Given the description of an element on the screen output the (x, y) to click on. 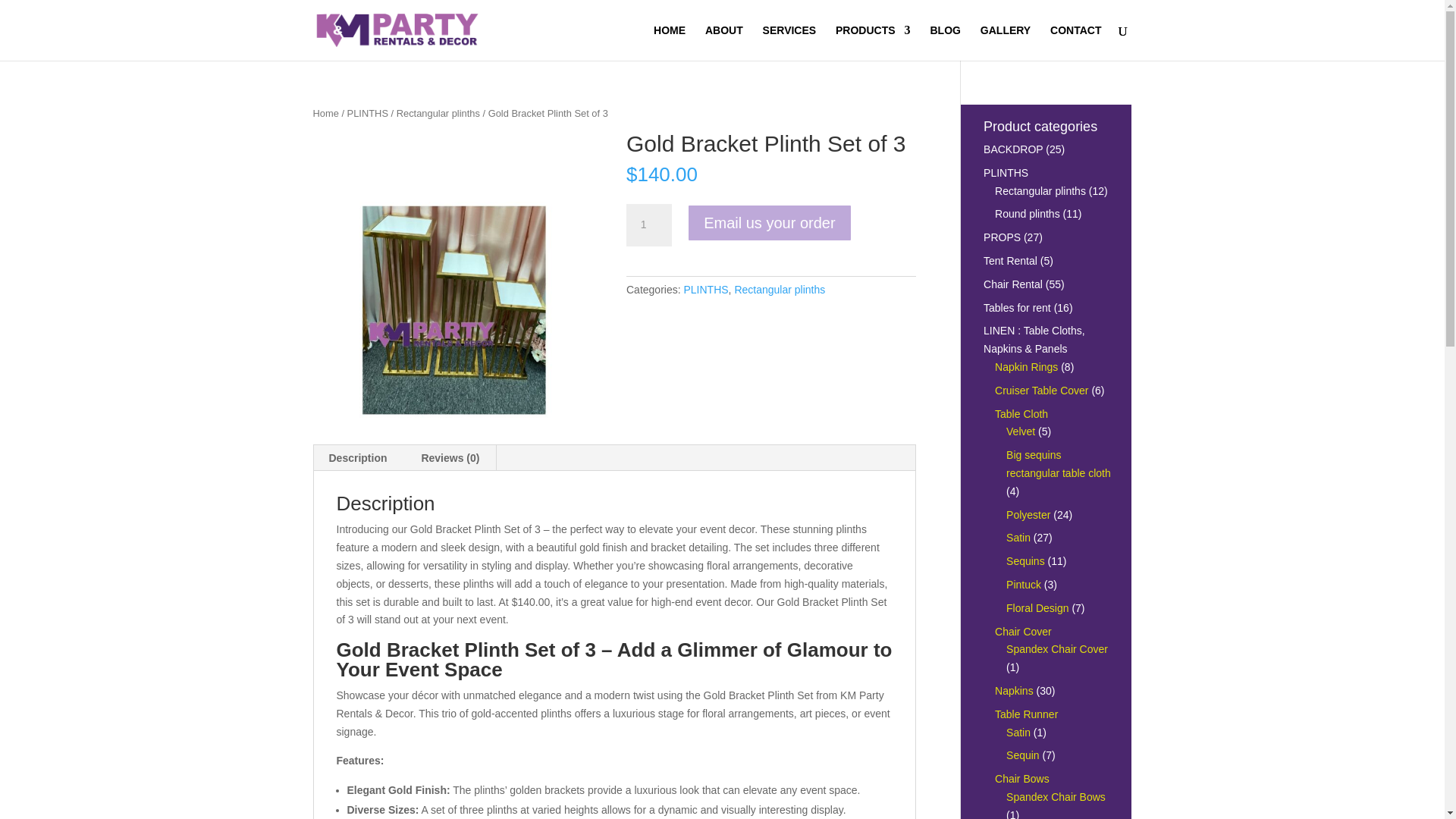
HOME (669, 42)
1 (648, 224)
BACKDROP (1013, 149)
Email us your order (769, 222)
Home (325, 112)
GALLERY (1004, 42)
PLINTHS (705, 289)
PLINTHS (367, 112)
Rectangular plinths (438, 112)
gold bracket (457, 277)
